Given the description of an element on the screen output the (x, y) to click on. 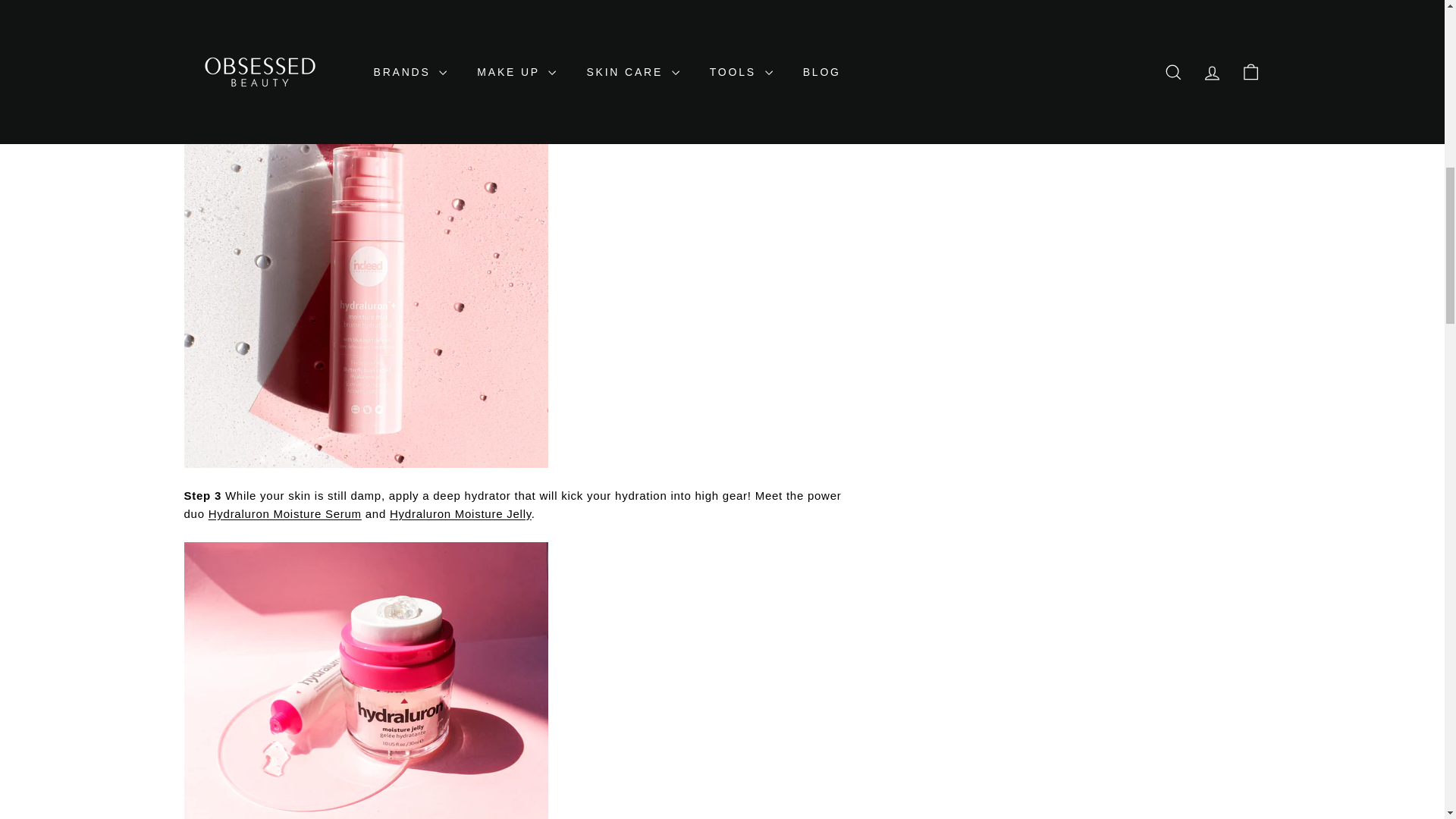
Indeed Labs Hydraluron Moisture Jelly  (460, 513)
Hydraluron Moisture Mist (721, 20)
Indeed Labs Hydraluron Moisture Serum  (284, 513)
